Given the description of an element on the screen output the (x, y) to click on. 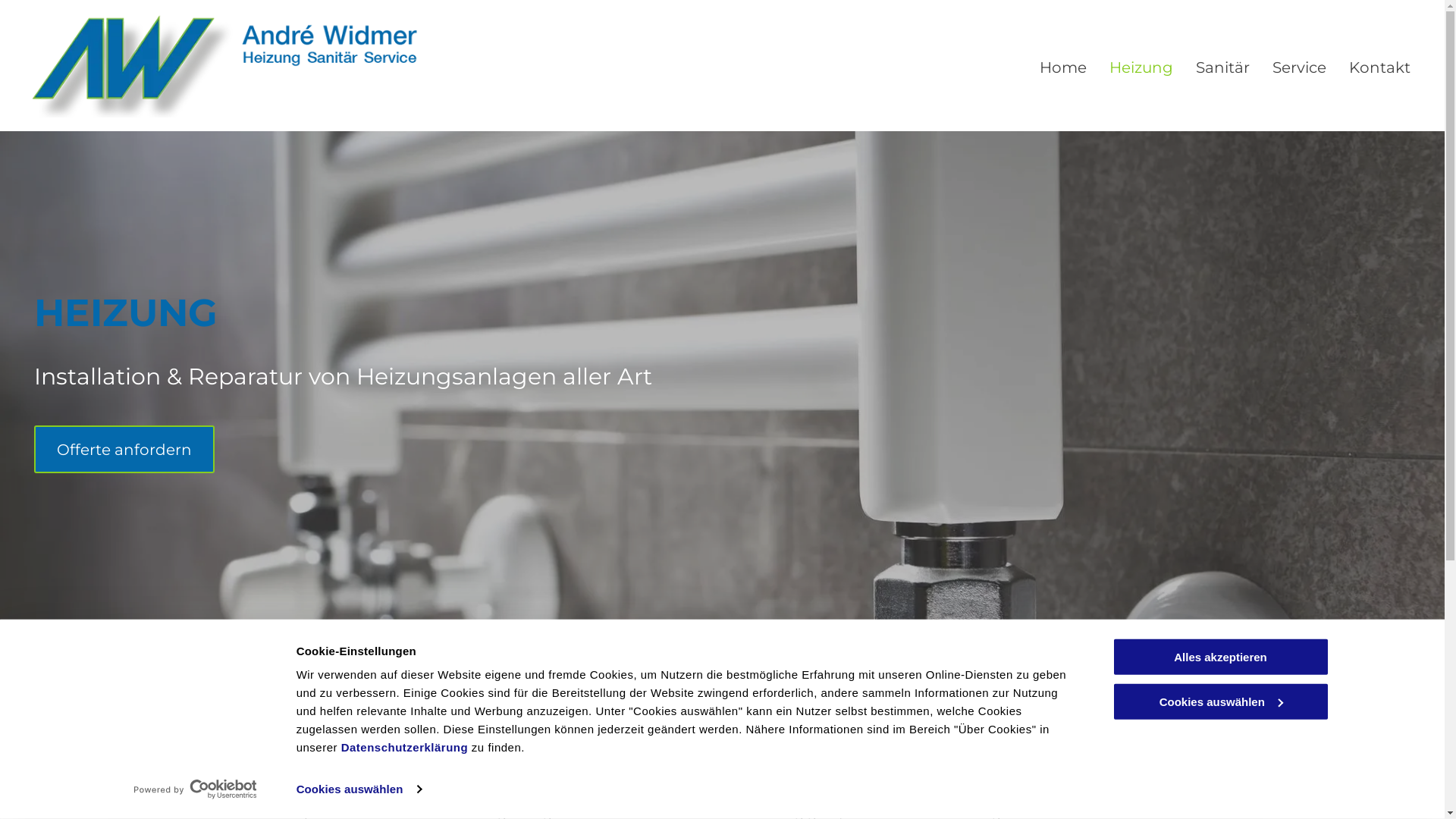
Home Element type: text (1063, 67)
Alles akzeptieren Element type: text (1219, 656)
Offerte anfordern Element type: text (124, 449)
Heizung Element type: text (1141, 67)
Kontakt Element type: text (1379, 67)
Service Element type: text (1299, 67)
